Given the description of an element on the screen output the (x, y) to click on. 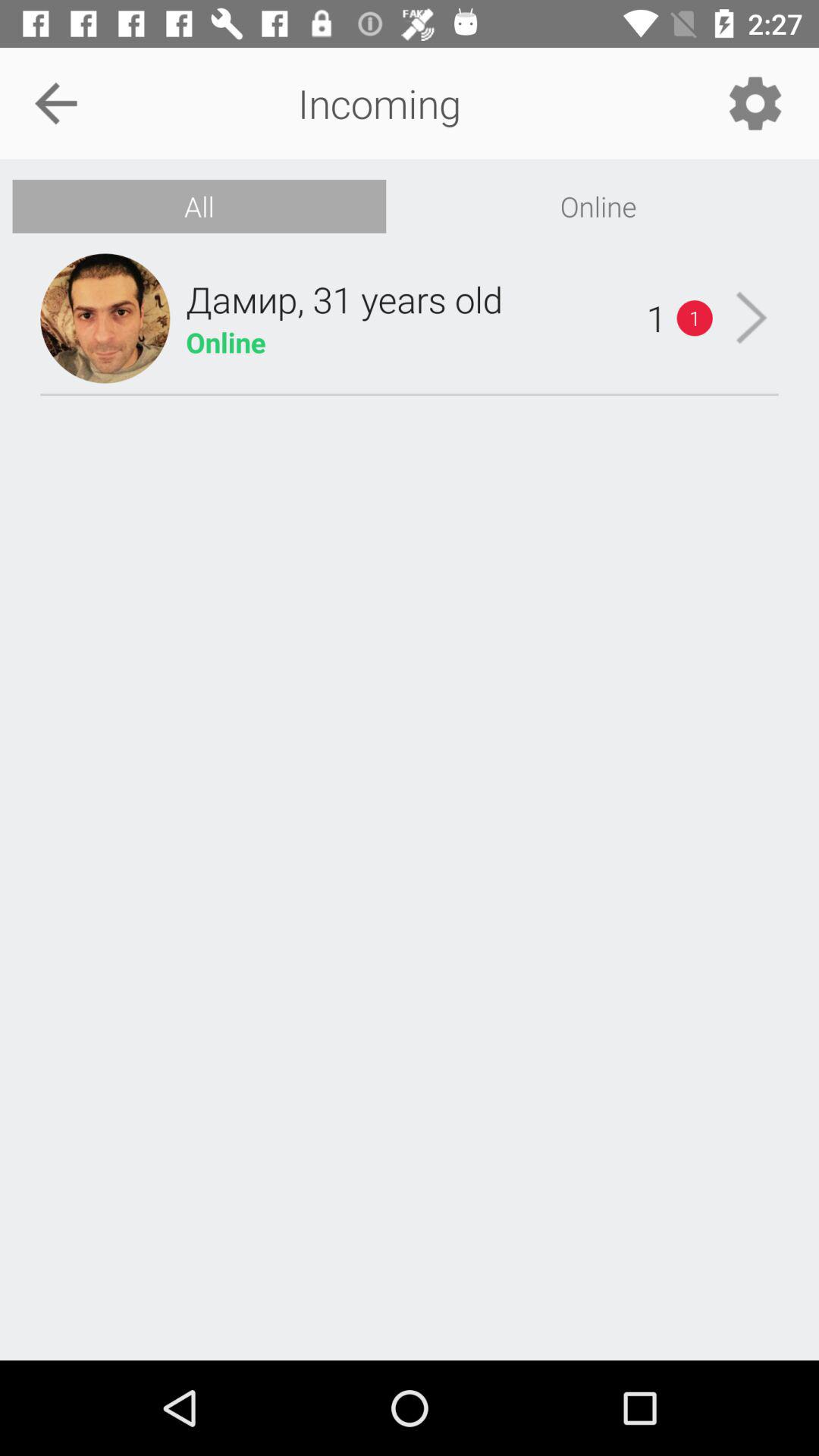
press the item above the all item (55, 103)
